Given the description of an element on the screen output the (x, y) to click on. 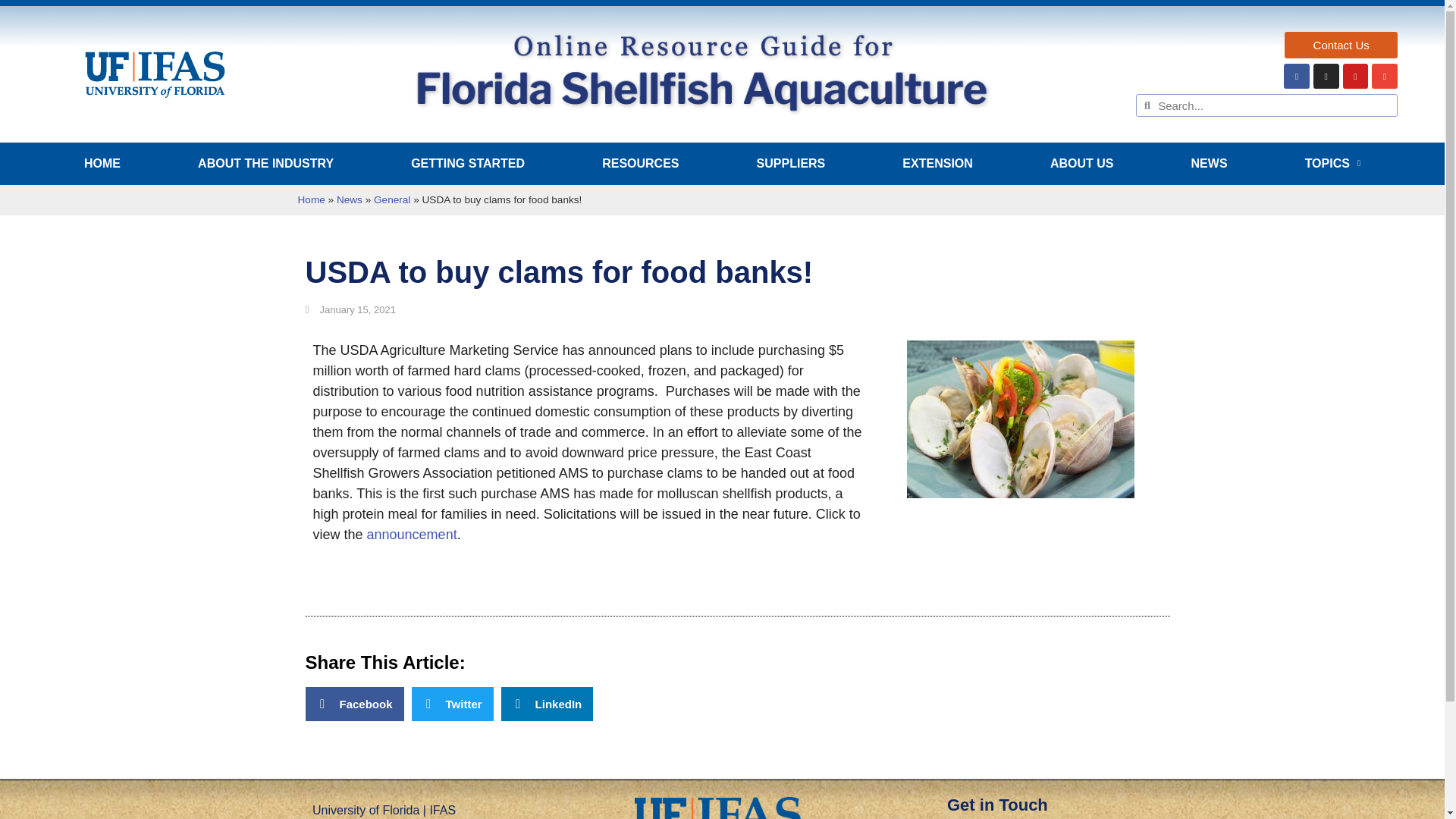
NEWS (1209, 163)
ABOUT US (1082, 163)
EXTENSION (937, 163)
SUPPLIERS (790, 163)
Getting Started (467, 163)
RESOURCES (640, 163)
News (1209, 163)
GETTING STARTED (467, 163)
Contact Us (1340, 44)
TOPICS (1332, 163)
HOME (101, 163)
ABOUT THE INDUSTRY (265, 163)
